Given the description of an element on the screen output the (x, y) to click on. 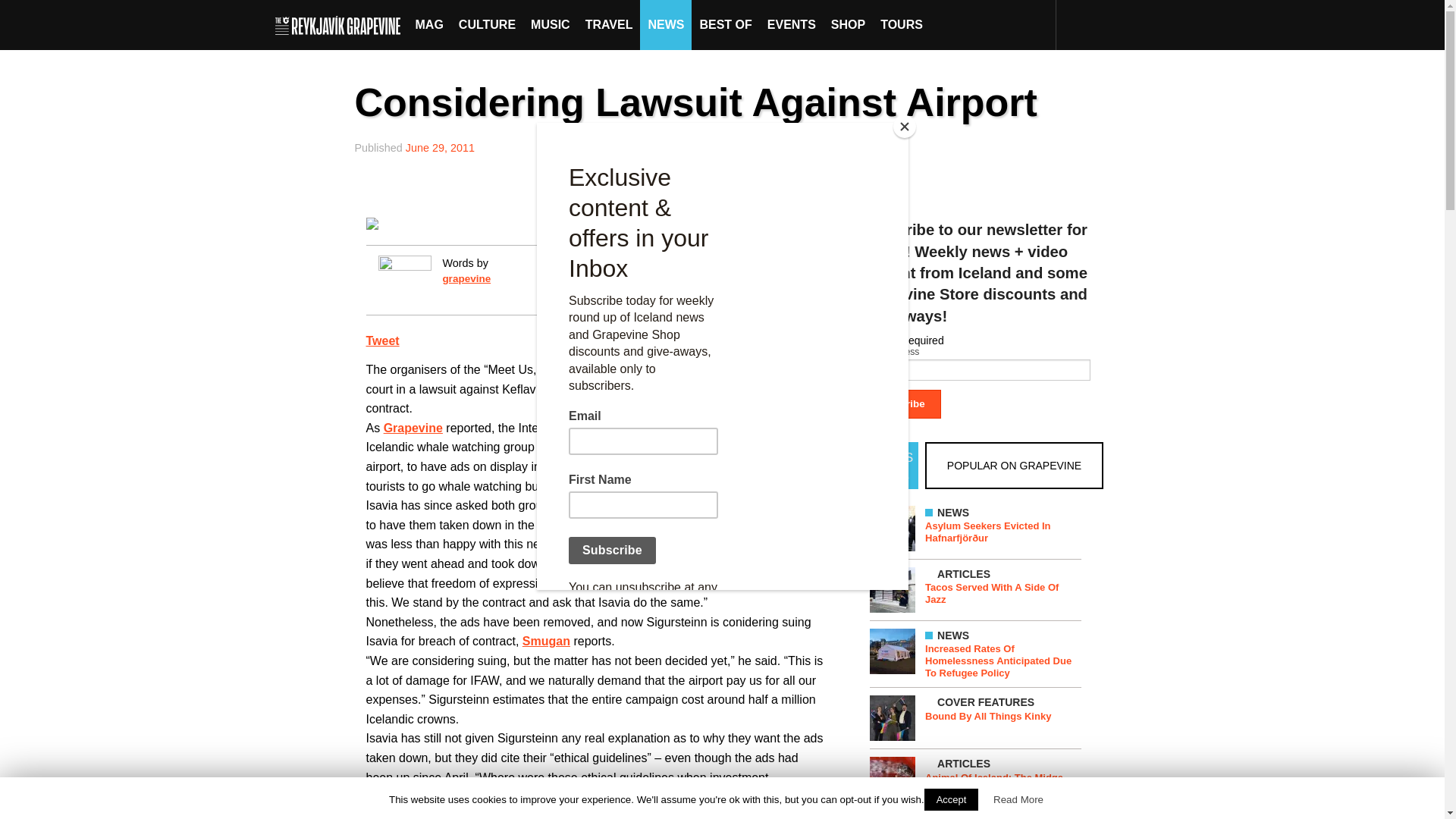
BEST OF (724, 24)
EVENTS (792, 24)
CULTURE (486, 24)
grapevine (466, 278)
Smugan (546, 640)
NEWS (665, 24)
MUSIC (550, 24)
Grapevine (413, 427)
TOURS (901, 24)
TRAVEL (609, 24)
Posts by grapevine (466, 278)
The Reykjavik Grapevine (341, 24)
SHOP (848, 24)
Subscribe (900, 403)
Tweet (381, 340)
